Given the description of an element on the screen output the (x, y) to click on. 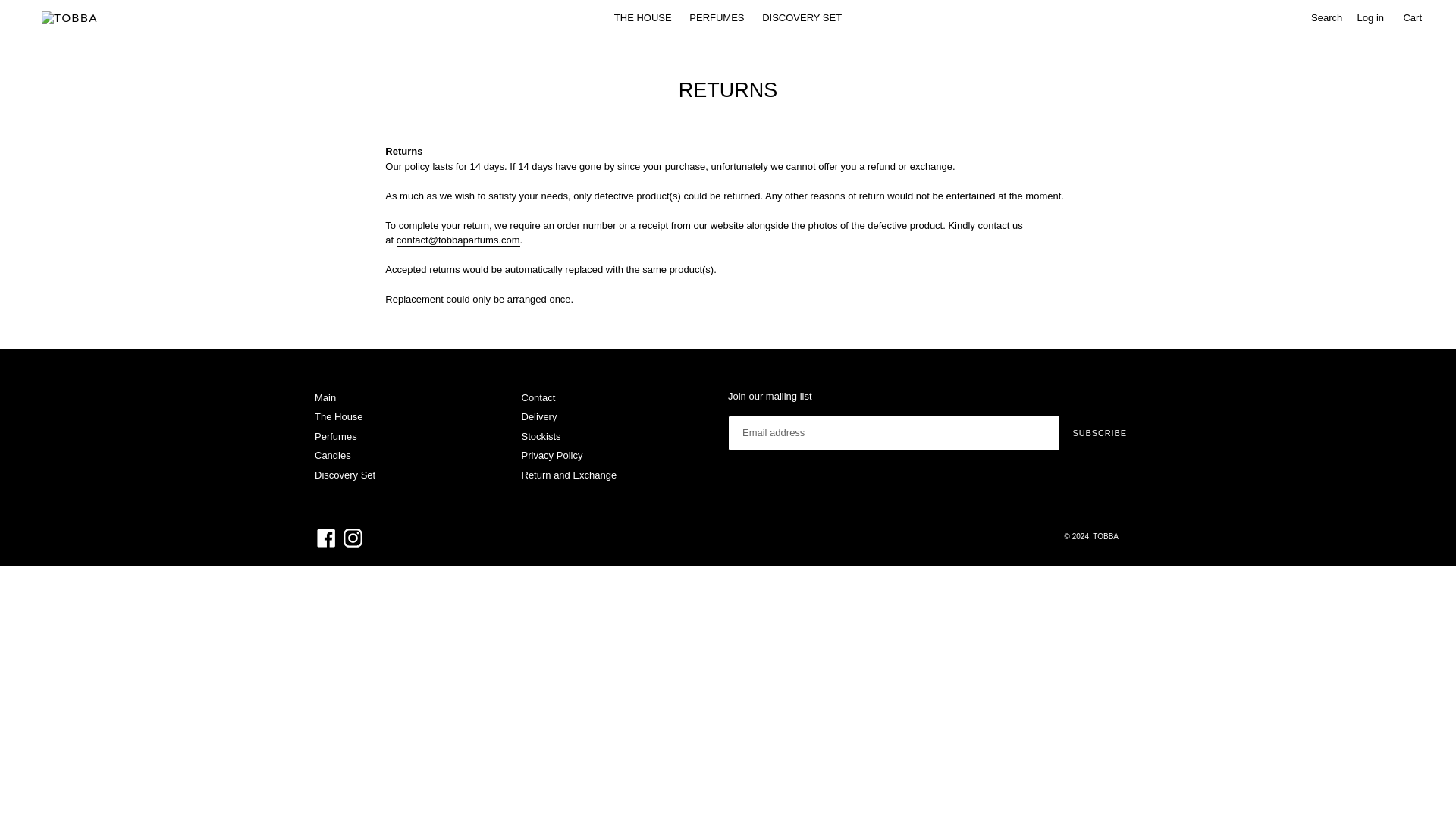
TOBBA on Instagram (352, 537)
TOBBA on Facebook (325, 537)
The House (338, 416)
Return and Exchange (569, 474)
Discovery Set (344, 474)
Search (1324, 18)
Delivery (539, 416)
Facebook (325, 537)
TOBBA (1105, 536)
Main (325, 397)
